Given the description of an element on the screen output the (x, y) to click on. 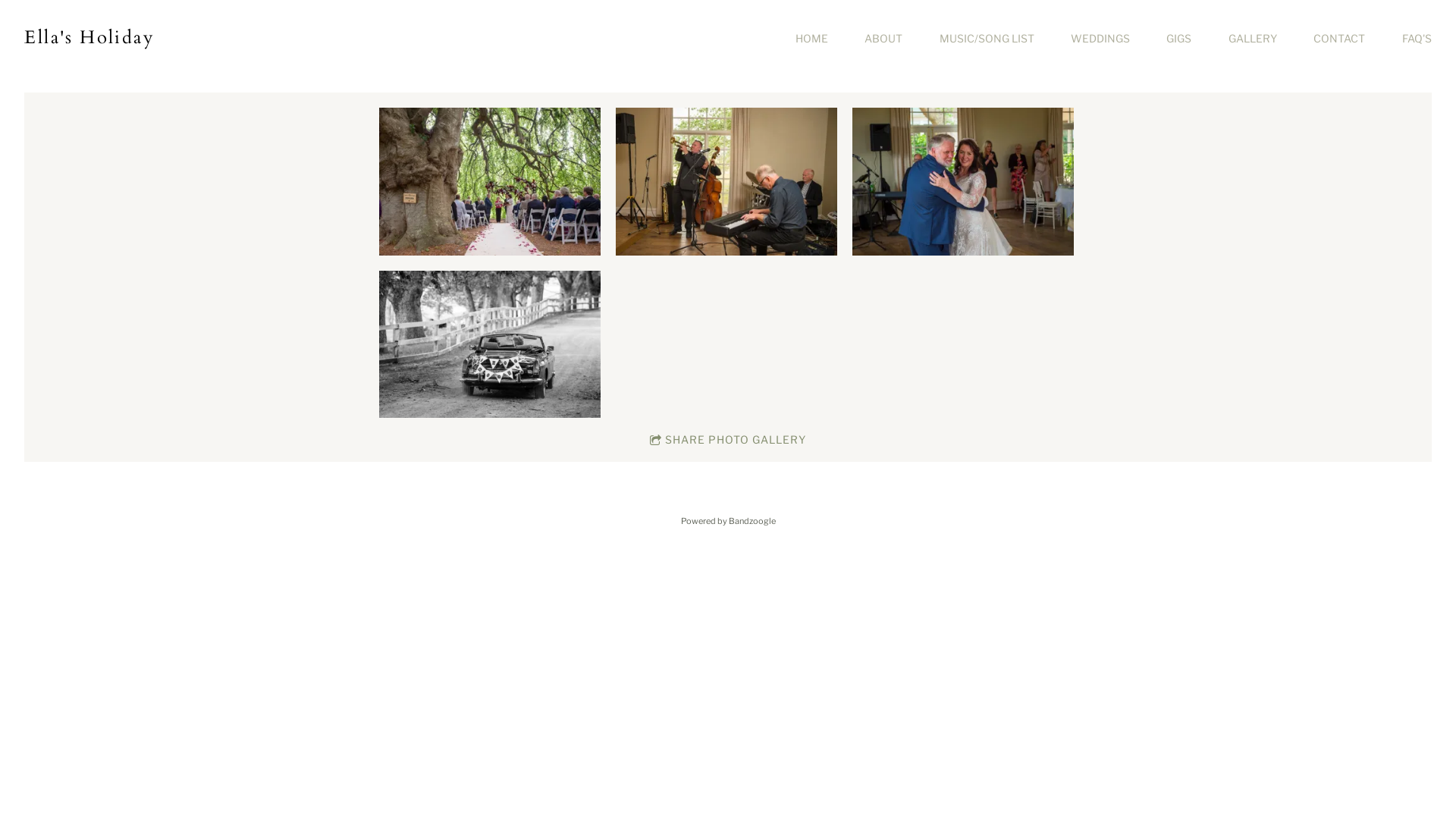
GALLERY Element type: text (1252, 38)
Powered by Bandzoogle Element type: text (727, 520)
ABOUT Element type: text (883, 38)
GIGS Element type: text (1178, 38)
HOME Element type: text (811, 38)
MUSIC/SONG LIST Element type: text (986, 38)
WEDDINGS Element type: text (1099, 38)
SHARE PHOTO GALLERY Element type: text (727, 439)
Ella's Holiday Element type: text (89, 37)
FAQ'S Element type: text (1416, 38)
CONTACT Element type: text (1339, 38)
